Given the description of an element on the screen output the (x, y) to click on. 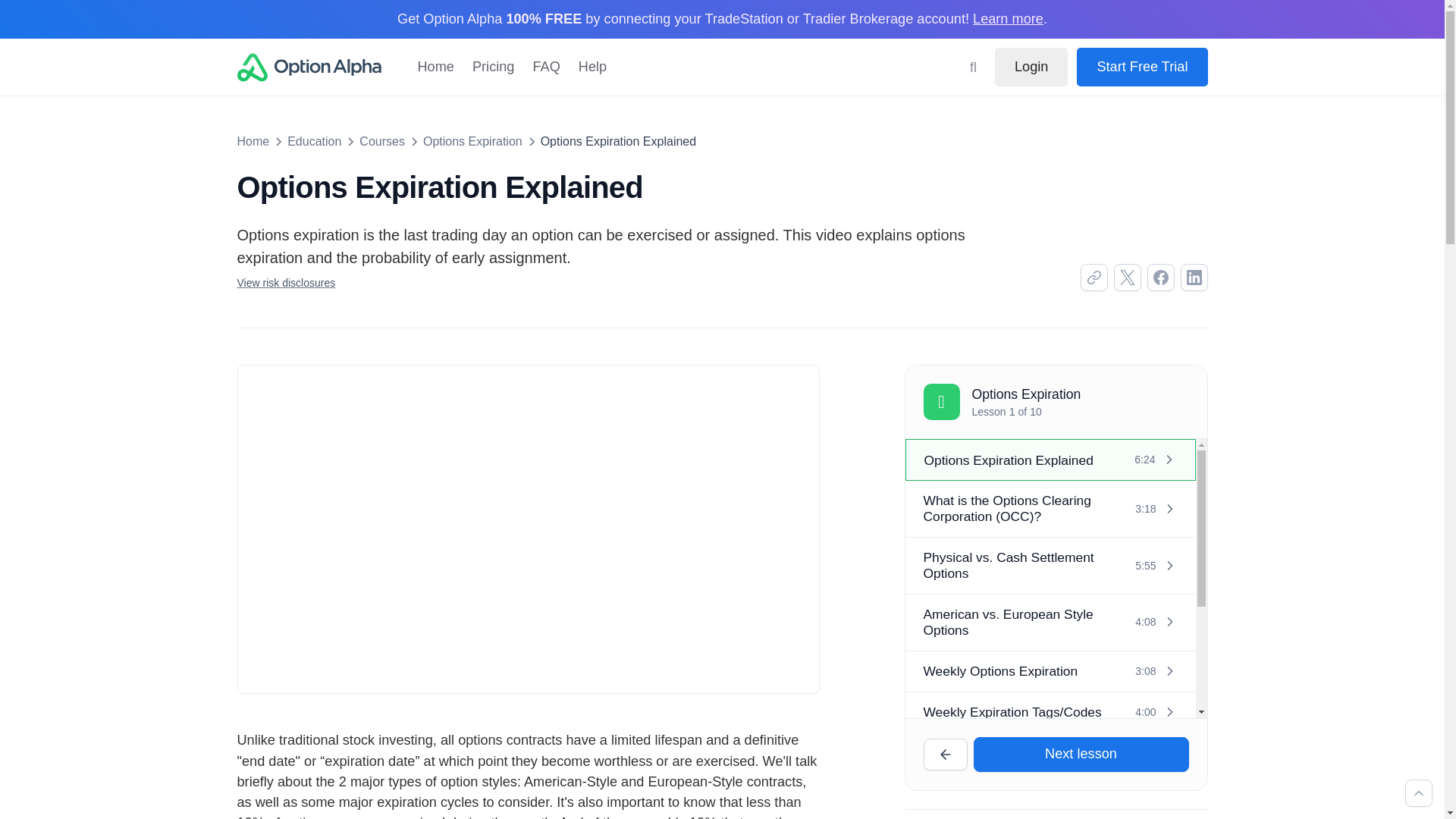
Education (313, 141)
Share on Twitter (1126, 277)
Home (252, 141)
Start Free Trial (1142, 66)
Share on LinkedIn (1193, 277)
Pricing (493, 66)
Share on Facebook (1160, 277)
Home (435, 66)
Help (592, 66)
View risk disclosures (284, 282)
